Given the description of an element on the screen output the (x, y) to click on. 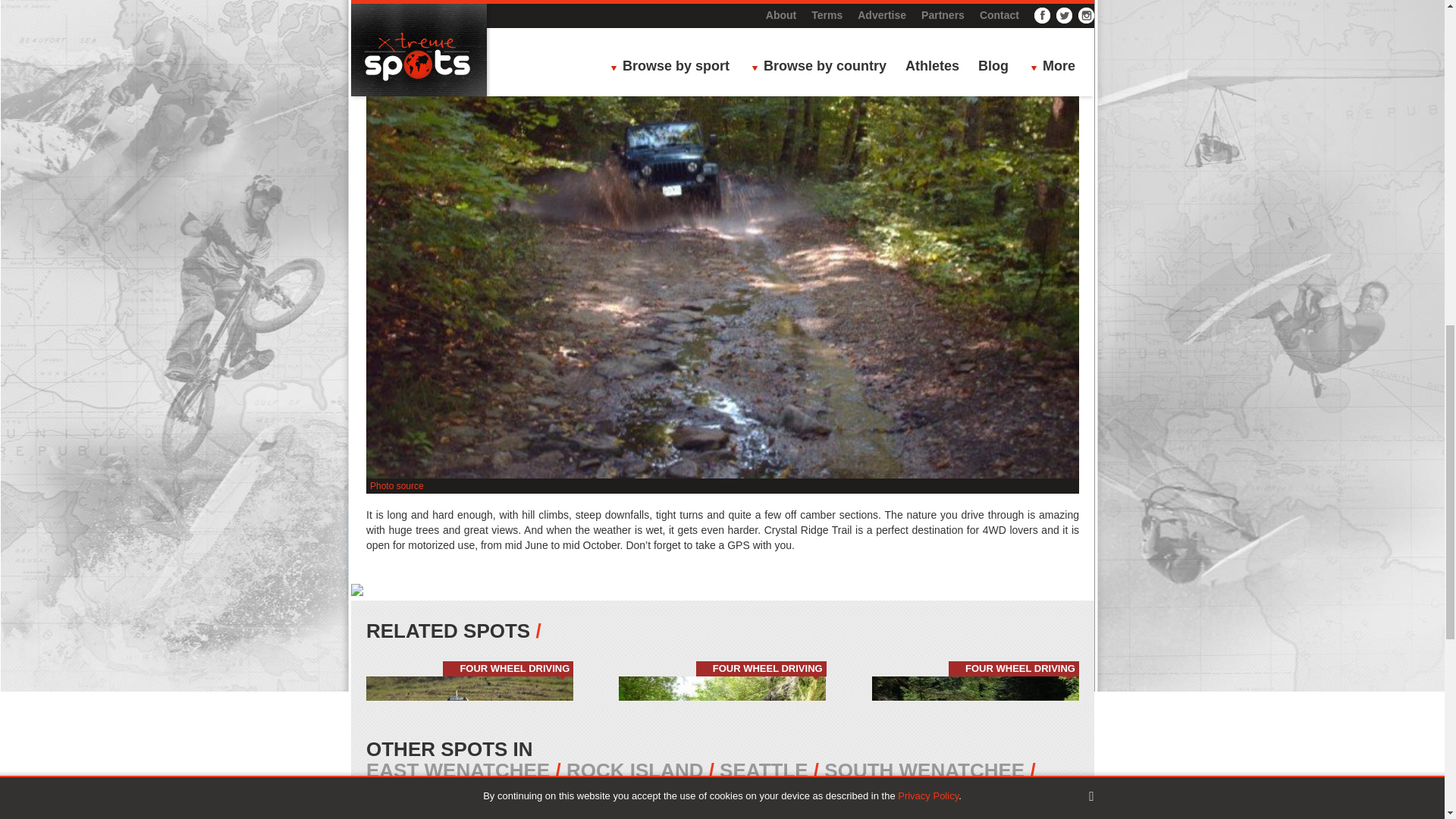
FOUR WHEEL DRIVING (514, 668)
Photo source (396, 485)
